Given the description of an element on the screen output the (x, y) to click on. 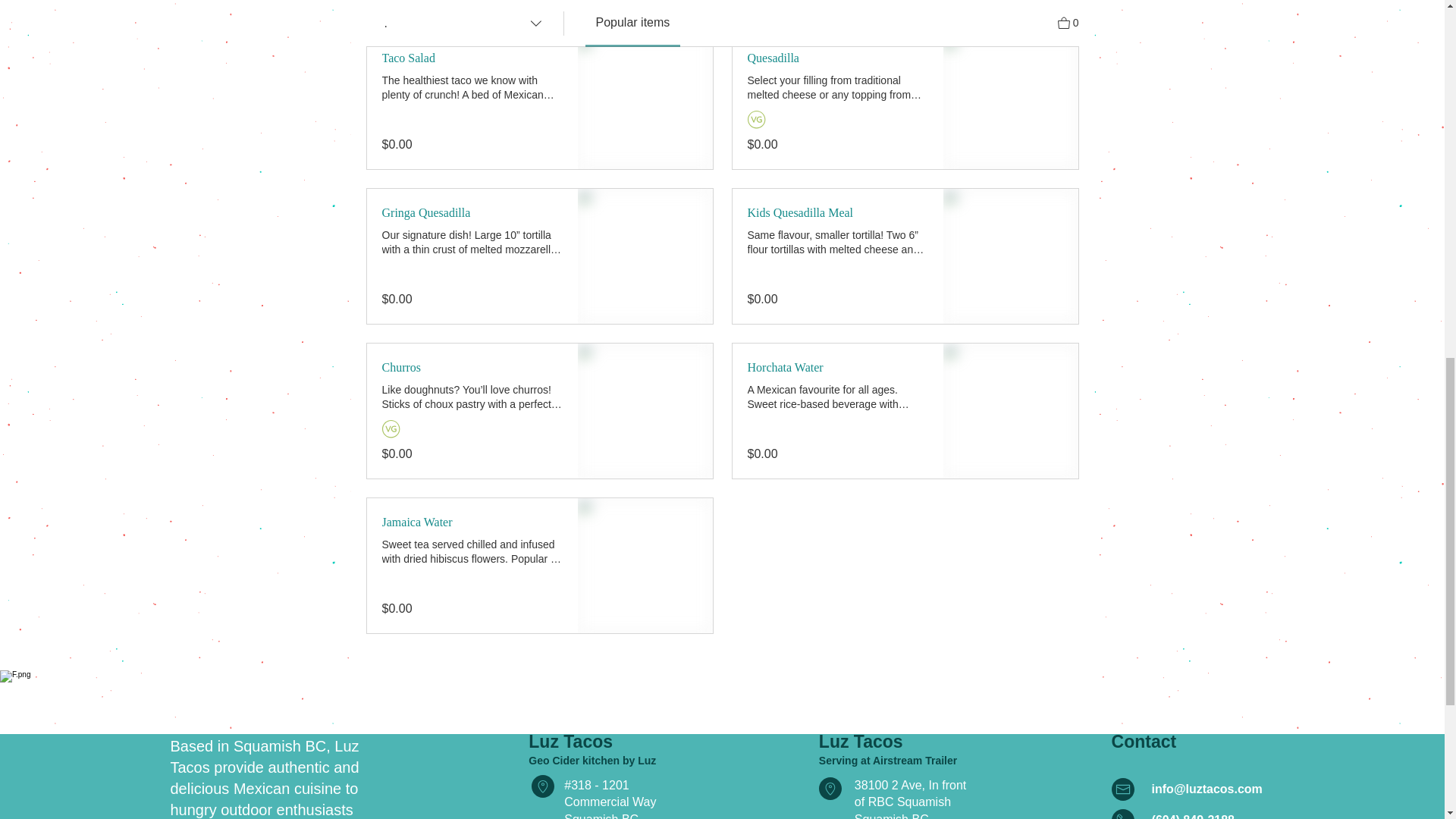
Jamaica Water (471, 522)
Taco Salad (471, 58)
Gringa Quesadilla (471, 212)
Horchata Water (838, 367)
Churros (471, 367)
Kids Quesadilla Meal (838, 212)
Quesadilla (838, 58)
